Given the description of an element on the screen output the (x, y) to click on. 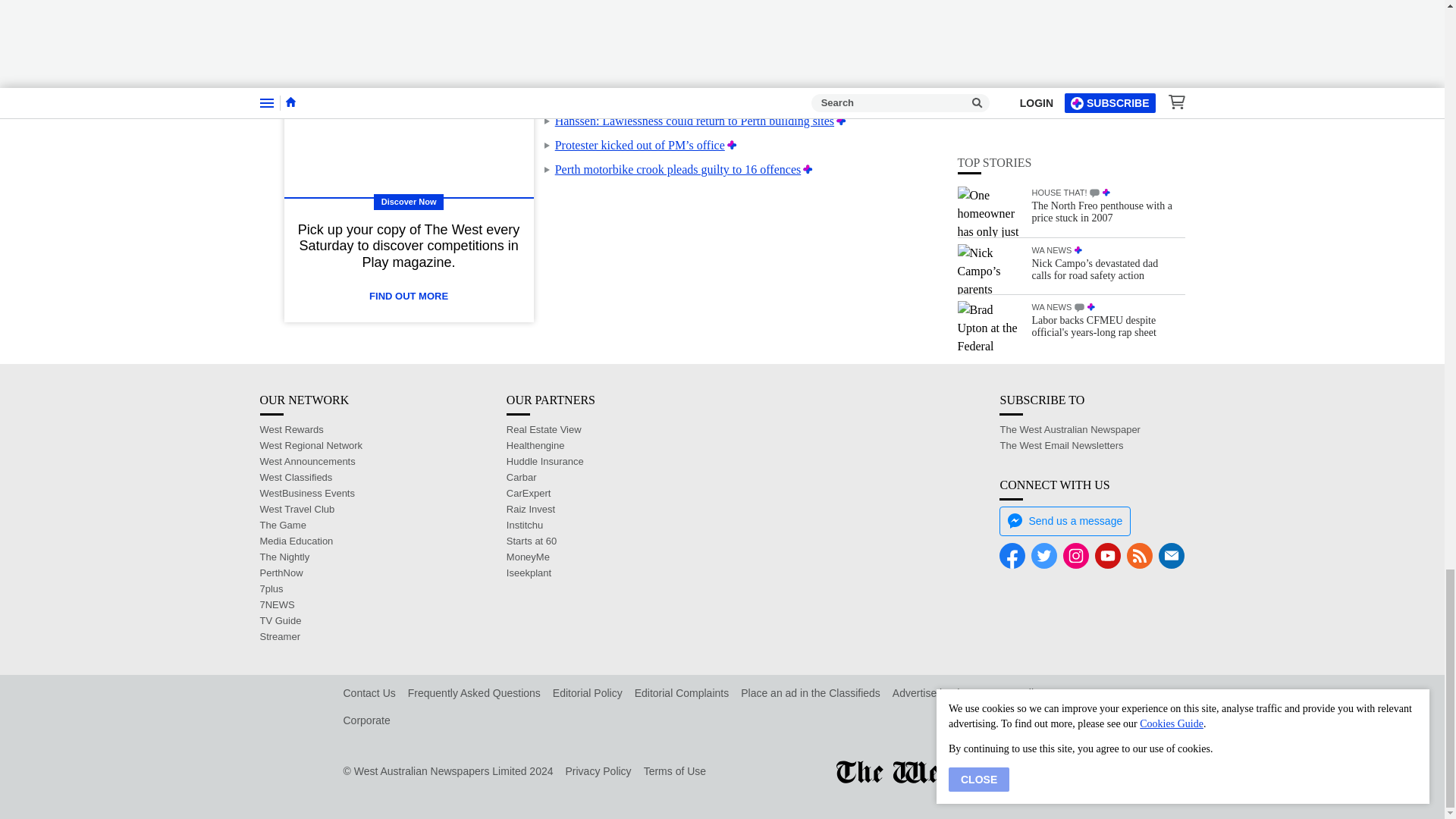
Premium (843, 47)
Premium (849, 72)
Premium (731, 144)
Premium (840, 120)
Premium (807, 169)
